Given the description of an element on the screen output the (x, y) to click on. 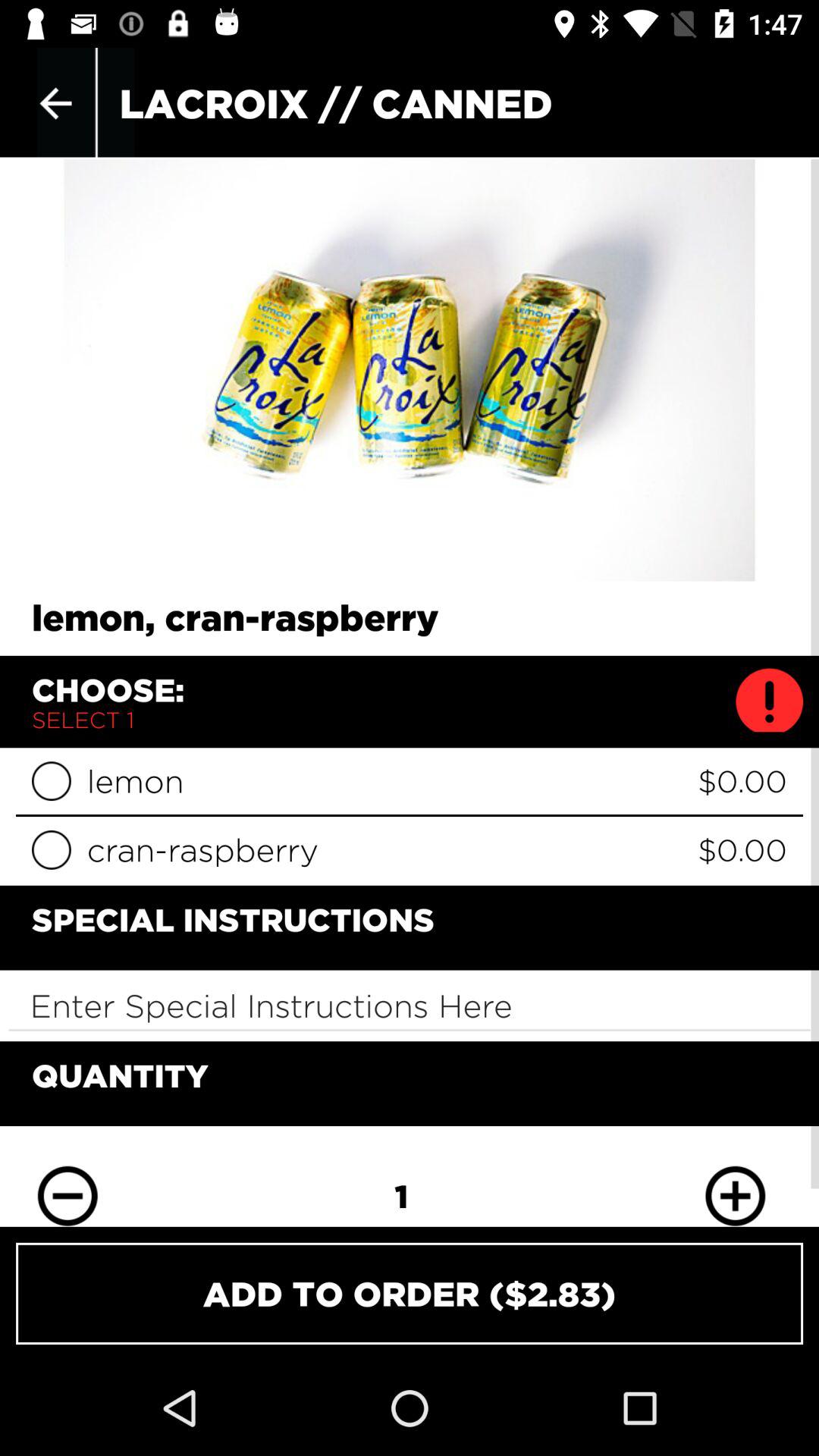
select item (51, 780)
